Given the description of an element on the screen output the (x, y) to click on. 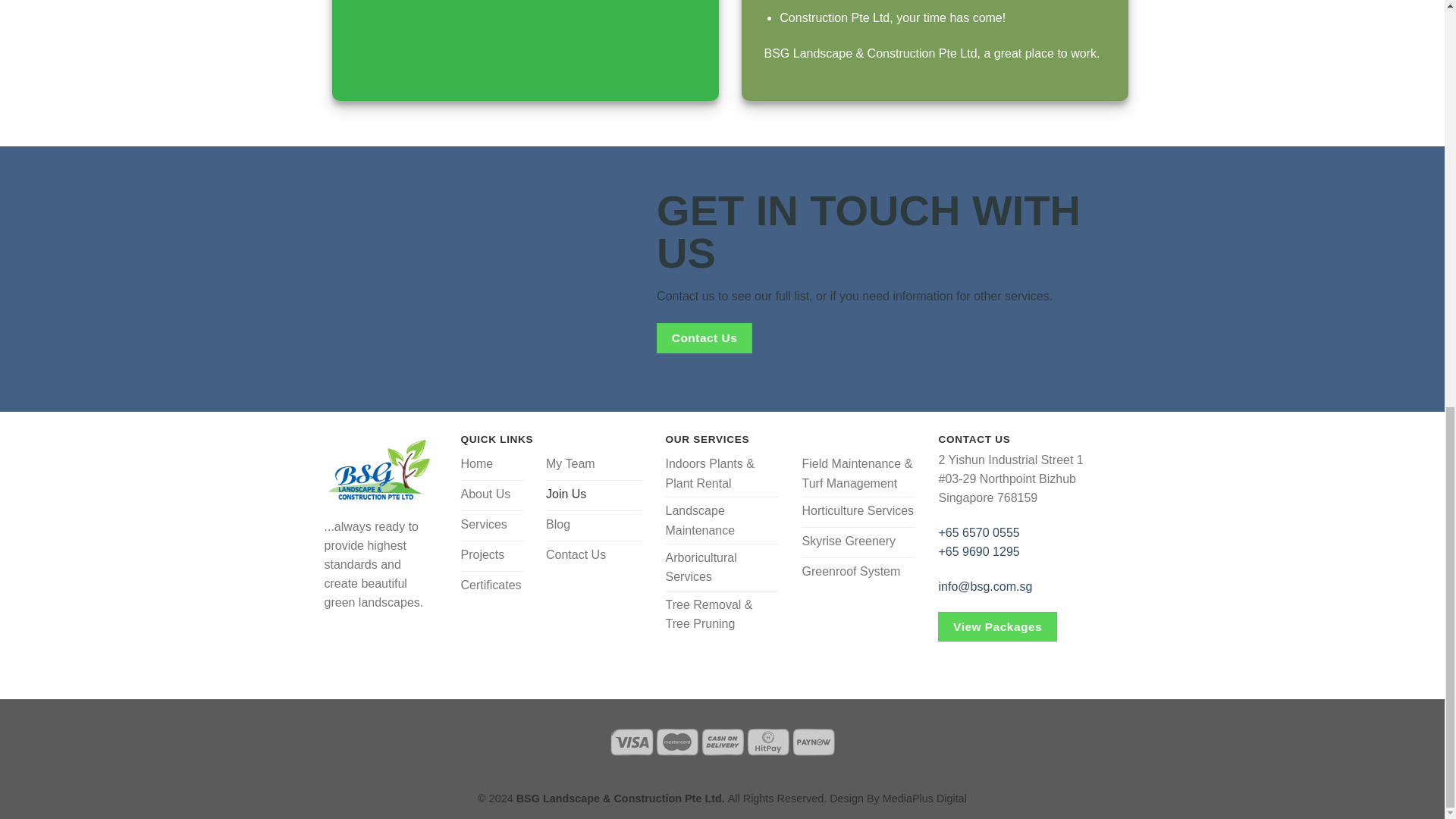
Blog (594, 526)
Home (492, 465)
Horticulture Services (858, 512)
Join Us (594, 495)
Contact Us (594, 556)
My Team (594, 465)
Landscape Maintenance (721, 520)
Arboricultural Services (721, 567)
About Us (492, 495)
Contact Us (704, 337)
Services (492, 526)
Projects (492, 556)
Certificates (492, 586)
